Given the description of an element on the screen output the (x, y) to click on. 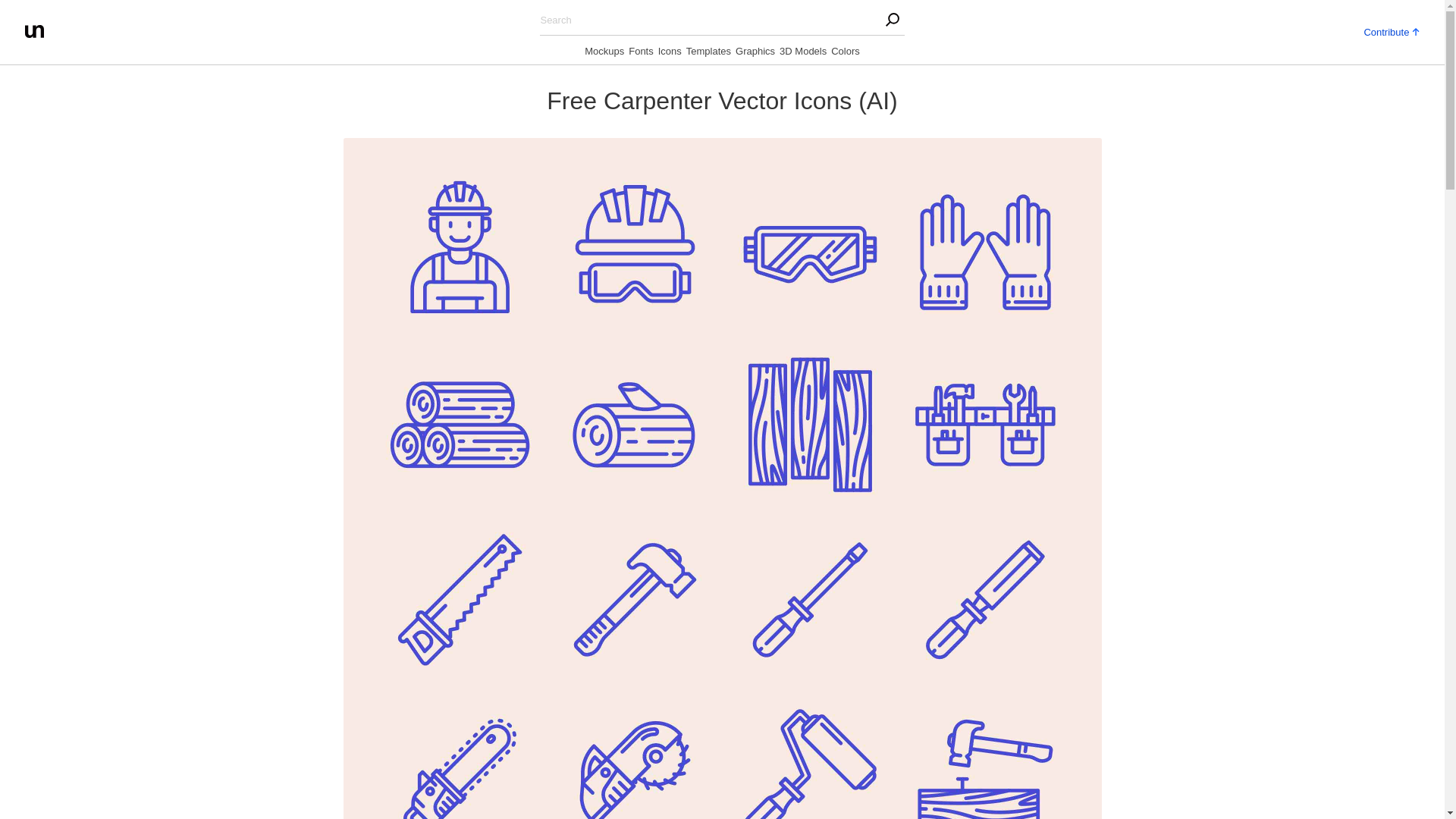
Mockups (604, 53)
Search (303, 15)
Contribute (1390, 30)
Templates (707, 53)
Graphics (754, 53)
Fonts (640, 53)
Icons (669, 53)
Colors (845, 53)
3D Models (802, 53)
